Given the description of an element on the screen output the (x, y) to click on. 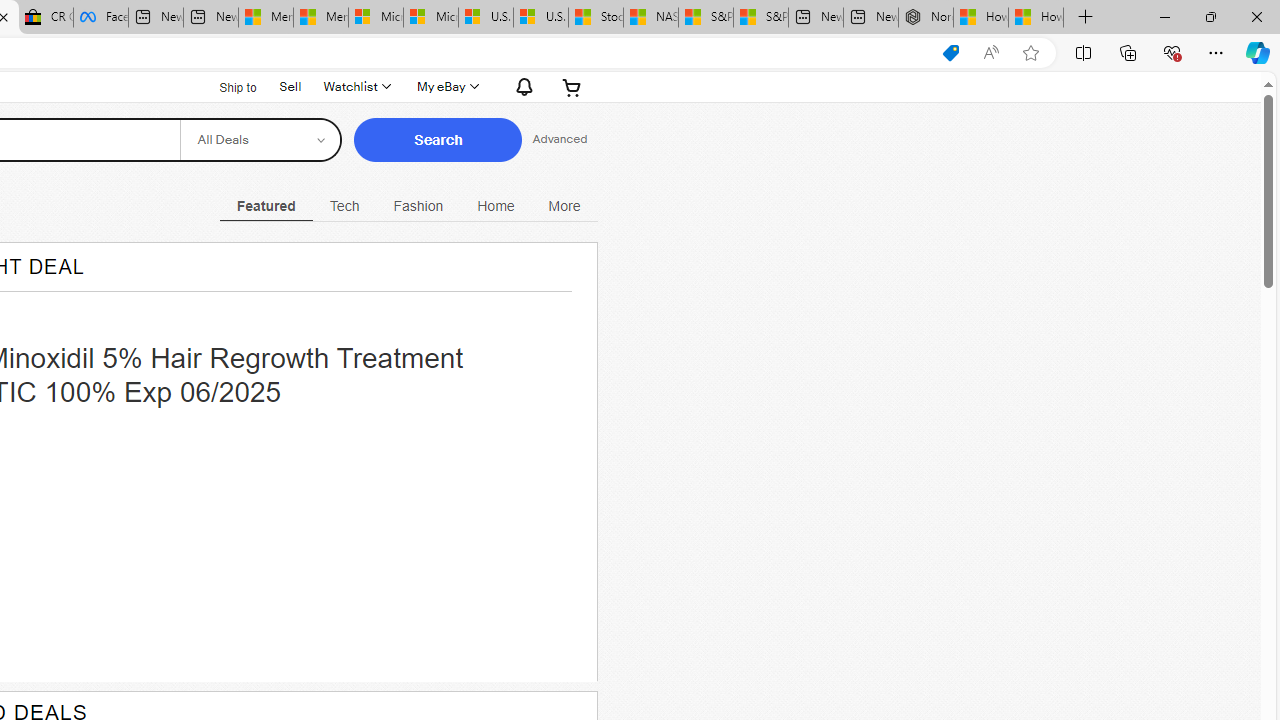
Sell (290, 84)
Home (495, 205)
Close (1256, 16)
Fashion (418, 205)
Your shopping cart (572, 86)
WatchlistExpand Watch List (355, 86)
New tab (870, 17)
Settings and more (Alt+F) (1215, 52)
Sell (290, 86)
This site has coupons! Shopping in Microsoft Edge (950, 53)
Ship to (225, 85)
Select a category for search (260, 139)
Minimize (1164, 16)
Featured Current View (265, 205)
How to Use a Monitor With Your Closed Laptop (1035, 17)
